Given the description of an element on the screen output the (x, y) to click on. 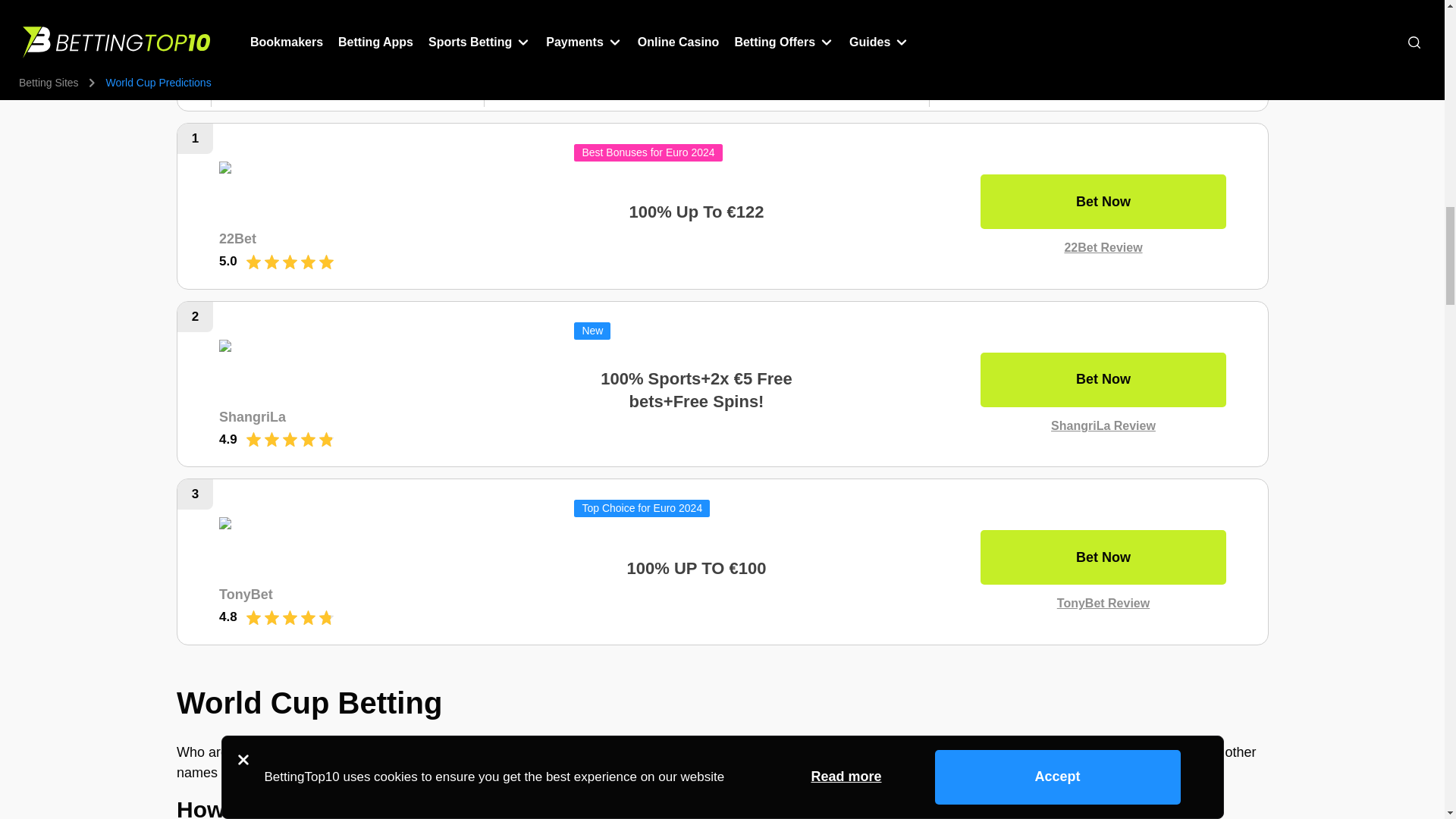
tonybet (326, 547)
shangrila (326, 369)
22bet (326, 191)
